Given the description of an element on the screen output the (x, y) to click on. 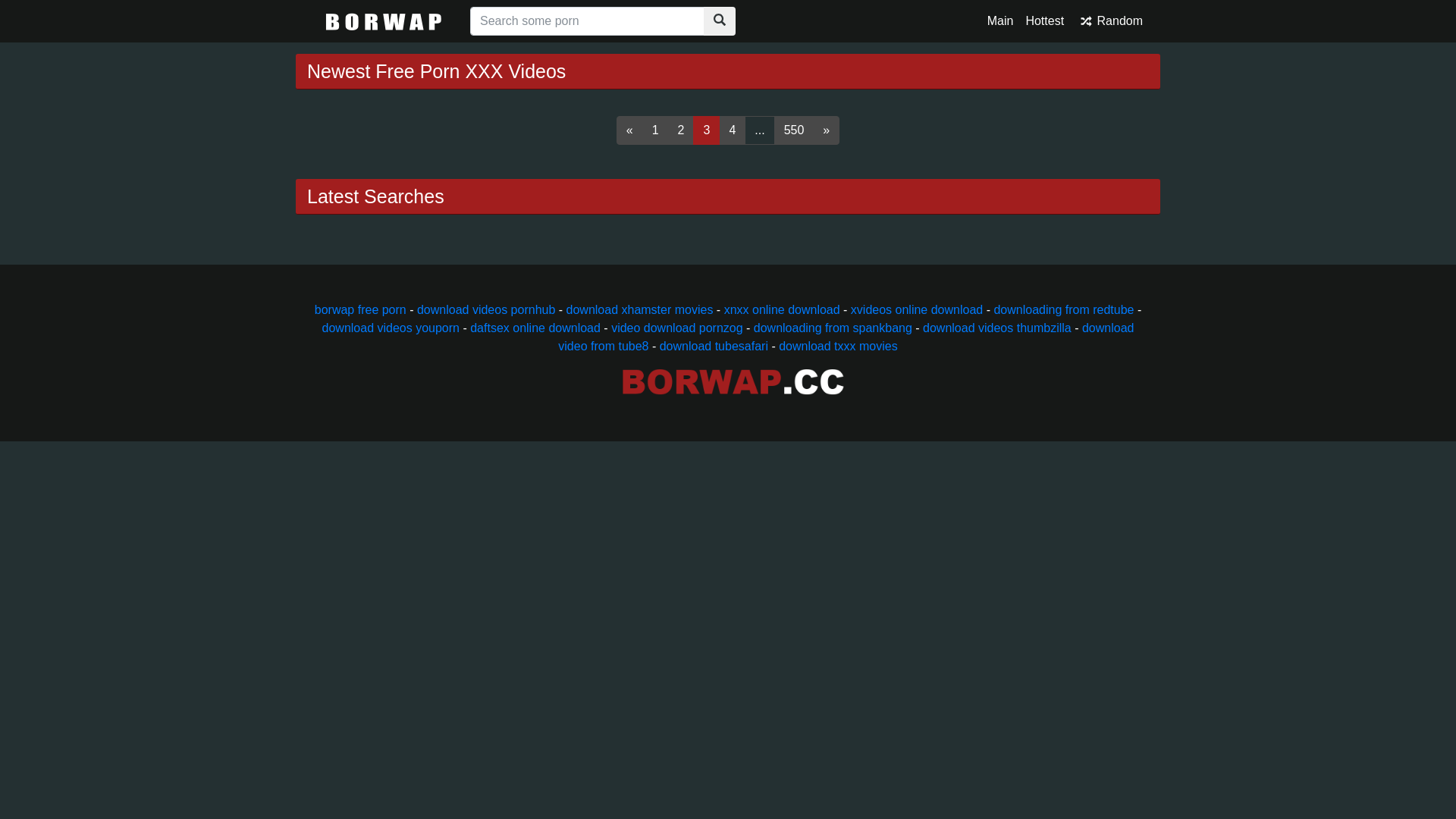
daftsex online download Element type: text (535, 327)
video download pornzog Element type: text (676, 327)
borwap free porn Element type: text (360, 309)
downloading from redtube Element type: text (1063, 309)
download tubesafari Element type: text (713, 345)
download videos pornhub Element type: text (486, 309)
Hottest Element type: text (1044, 21)
550 Element type: text (794, 130)
xnxx online download Element type: text (782, 309)
download videos thumbzilla Element type: text (996, 327)
downloading from spankbang Element type: text (832, 327)
xvideos online download Element type: text (916, 309)
download txxx movies Element type: text (837, 345)
Main Element type: text (1000, 21)
download xhamster movies Element type: text (639, 309)
download video from tube8 Element type: text (845, 336)
1 Element type: text (655, 130)
download videos youporn Element type: text (390, 327)
Random Element type: text (1109, 21)
3 Element type: text (706, 130)
4 Element type: text (731, 130)
2 Element type: text (681, 130)
